Given the description of an element on the screen output the (x, y) to click on. 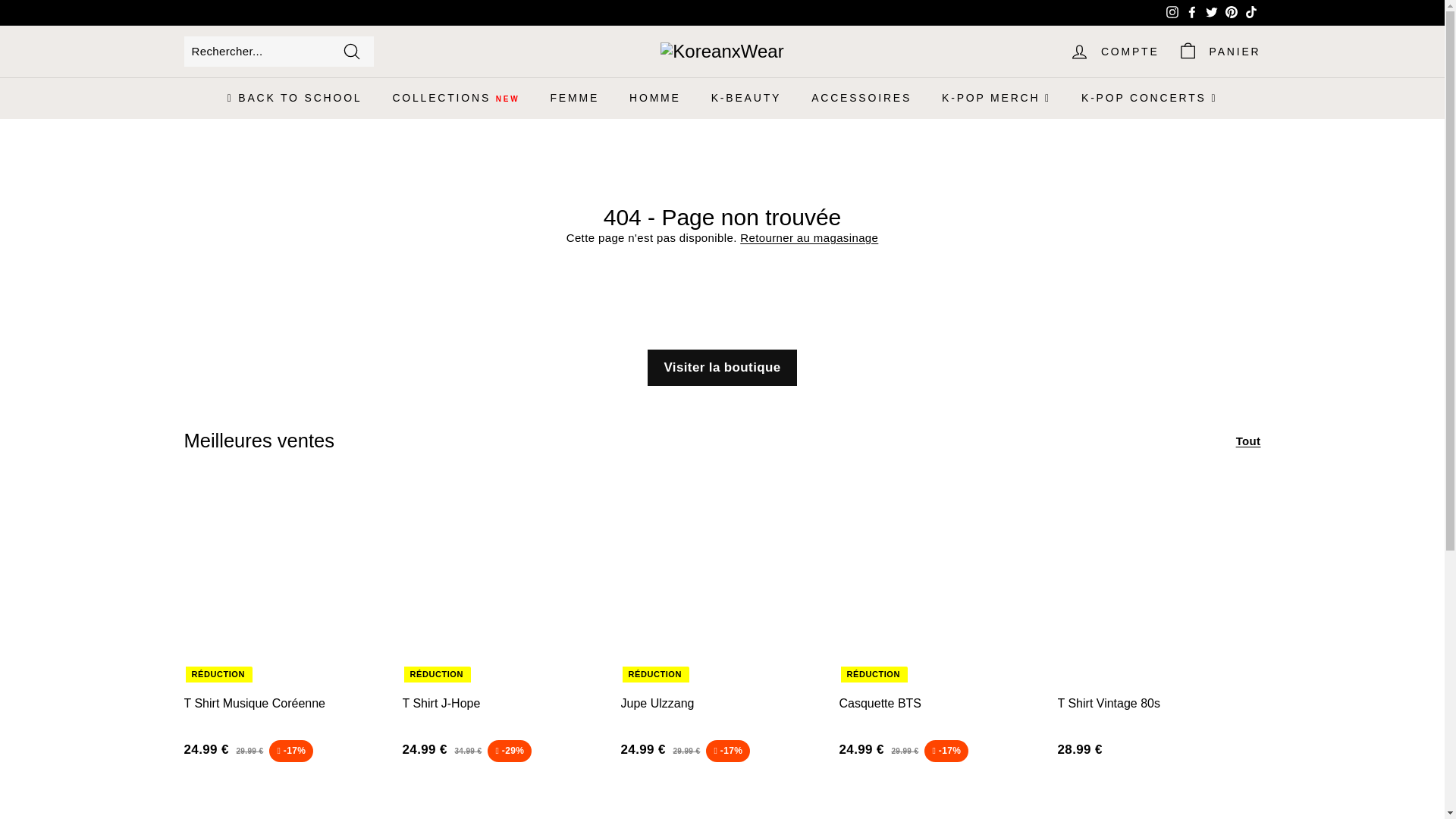
FEMME (574, 96)
COLLECTIONS NEW (455, 96)
COMPTE (1114, 50)
